Given the description of an element on the screen output the (x, y) to click on. 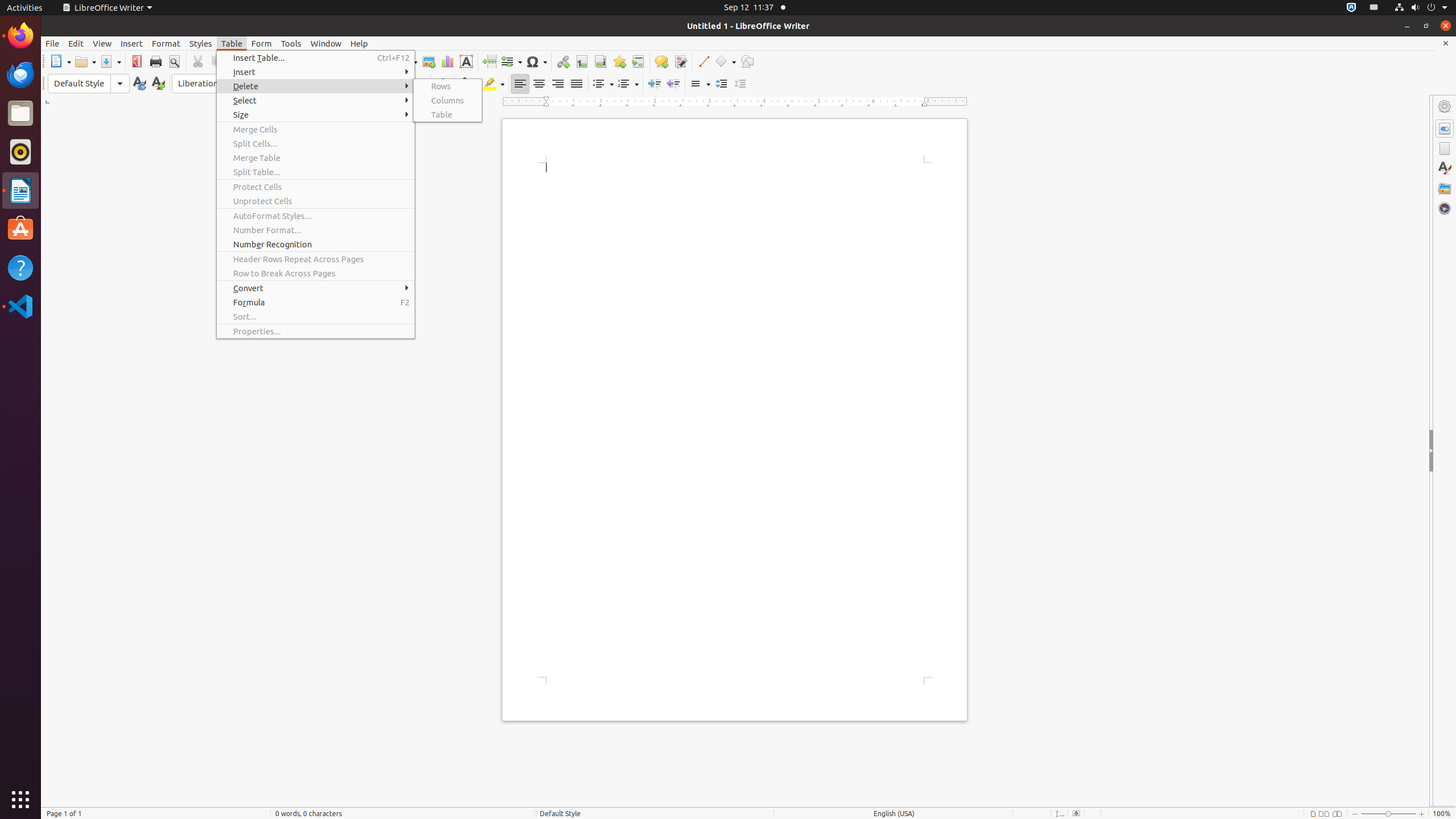
Gallery Element type: radio-button (1444, 188)
Print Preview Element type: toggle-button (173, 61)
Insert Table... Element type: menu-item (315, 57)
Rows Element type: menu-item (447, 86)
Ubuntu Software Element type: push-button (20, 229)
